Given the description of an element on the screen output the (x, y) to click on. 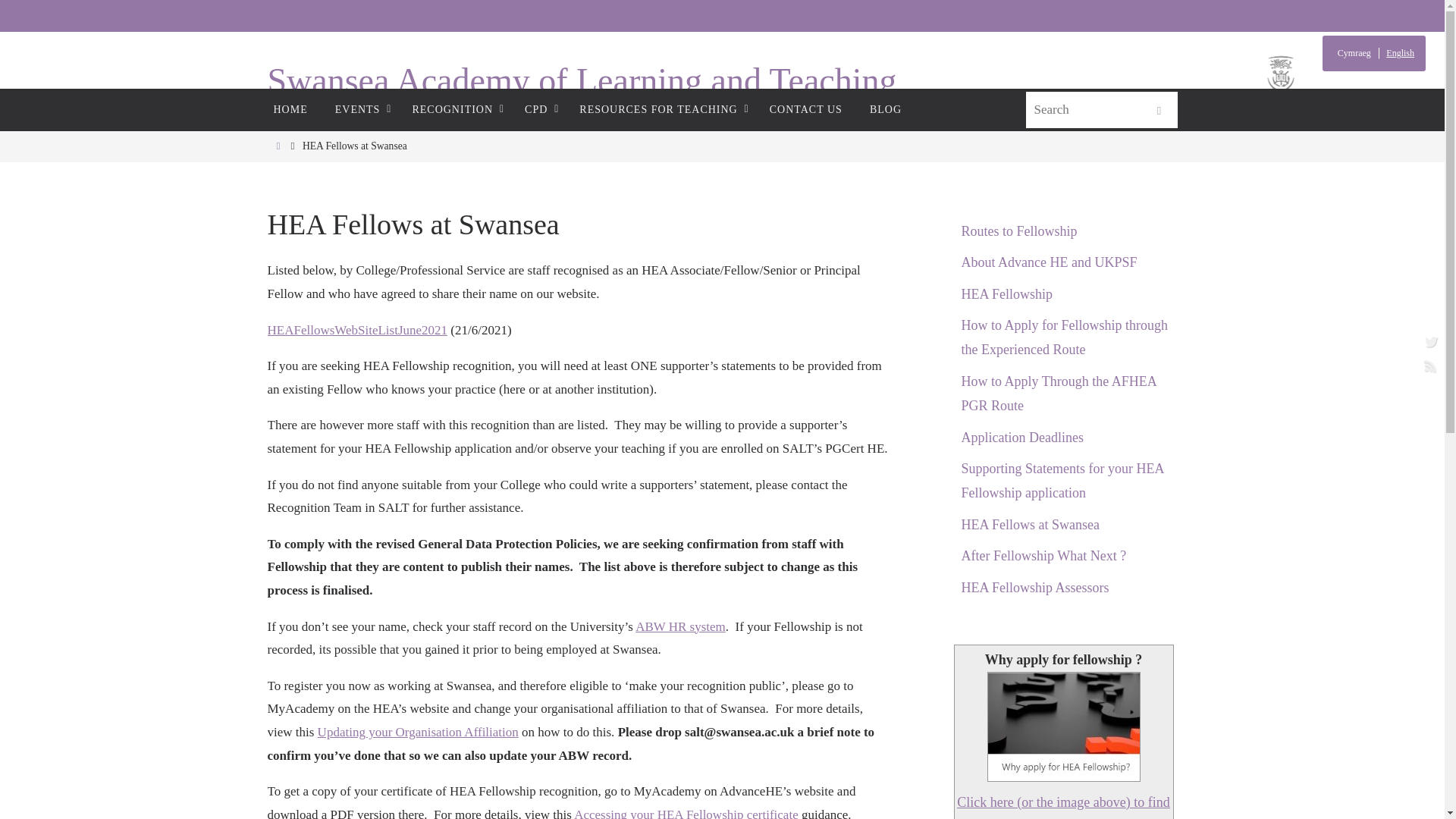
EVENTS (359, 109)
English (1397, 52)
HOME (289, 109)
Swansea Academy of Learning and Teaching (581, 81)
Swansea Academy of Learning and Teaching (581, 81)
Cymraeg (1355, 52)
RECOGNITION (454, 109)
RESOURCES FOR TEACHING (660, 109)
CPD (538, 109)
